Given the description of an element on the screen output the (x, y) to click on. 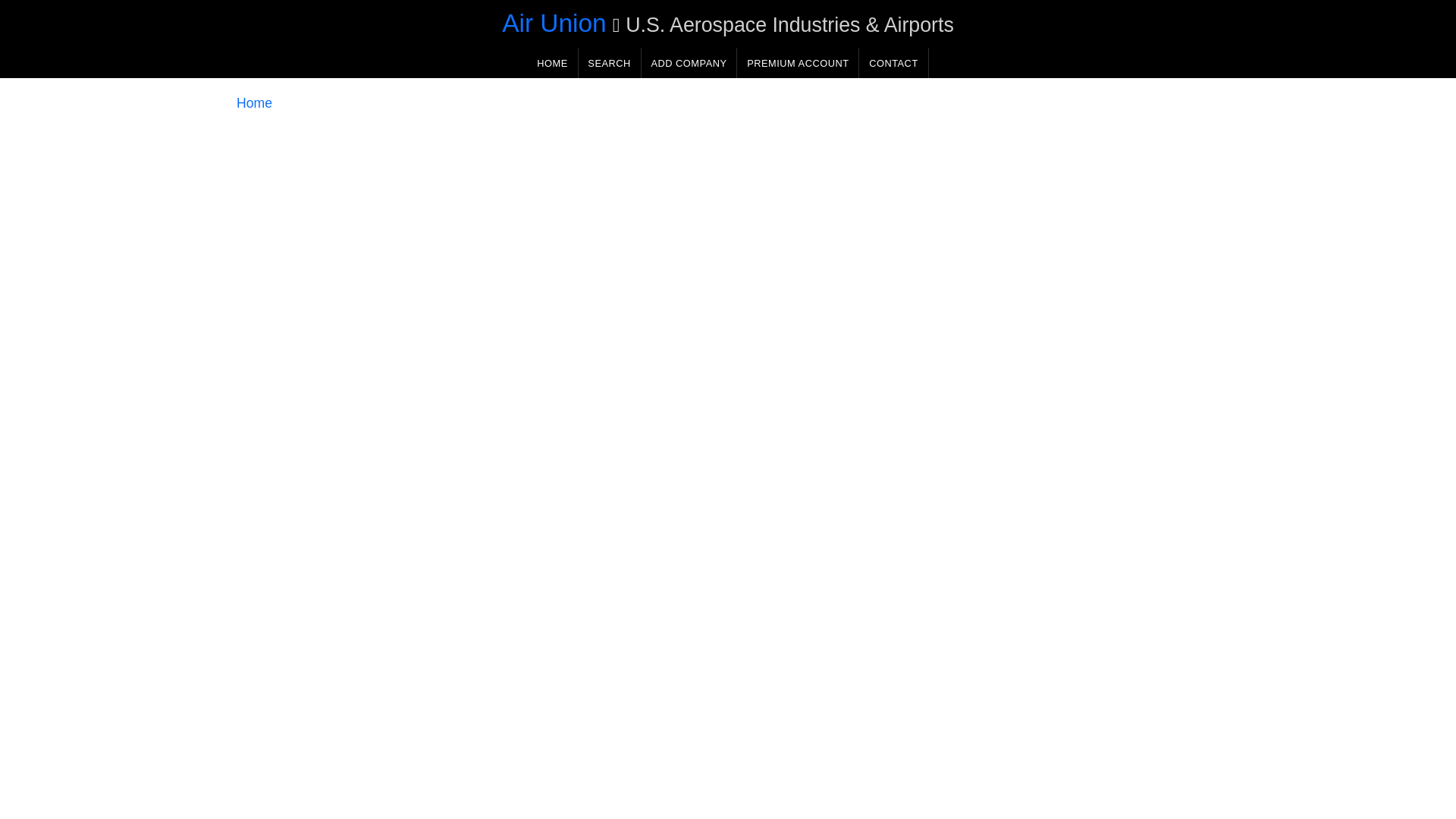
Premium account (797, 62)
CONTACT (893, 62)
ADD COMPANY (689, 62)
HOME (551, 62)
PREMIUM ACCOUNT (797, 62)
Air Union (553, 22)
Home (253, 102)
Search in this webseite. (609, 62)
Add a new company (689, 62)
SEARCH (609, 62)
